Given the description of an element on the screen output the (x, y) to click on. 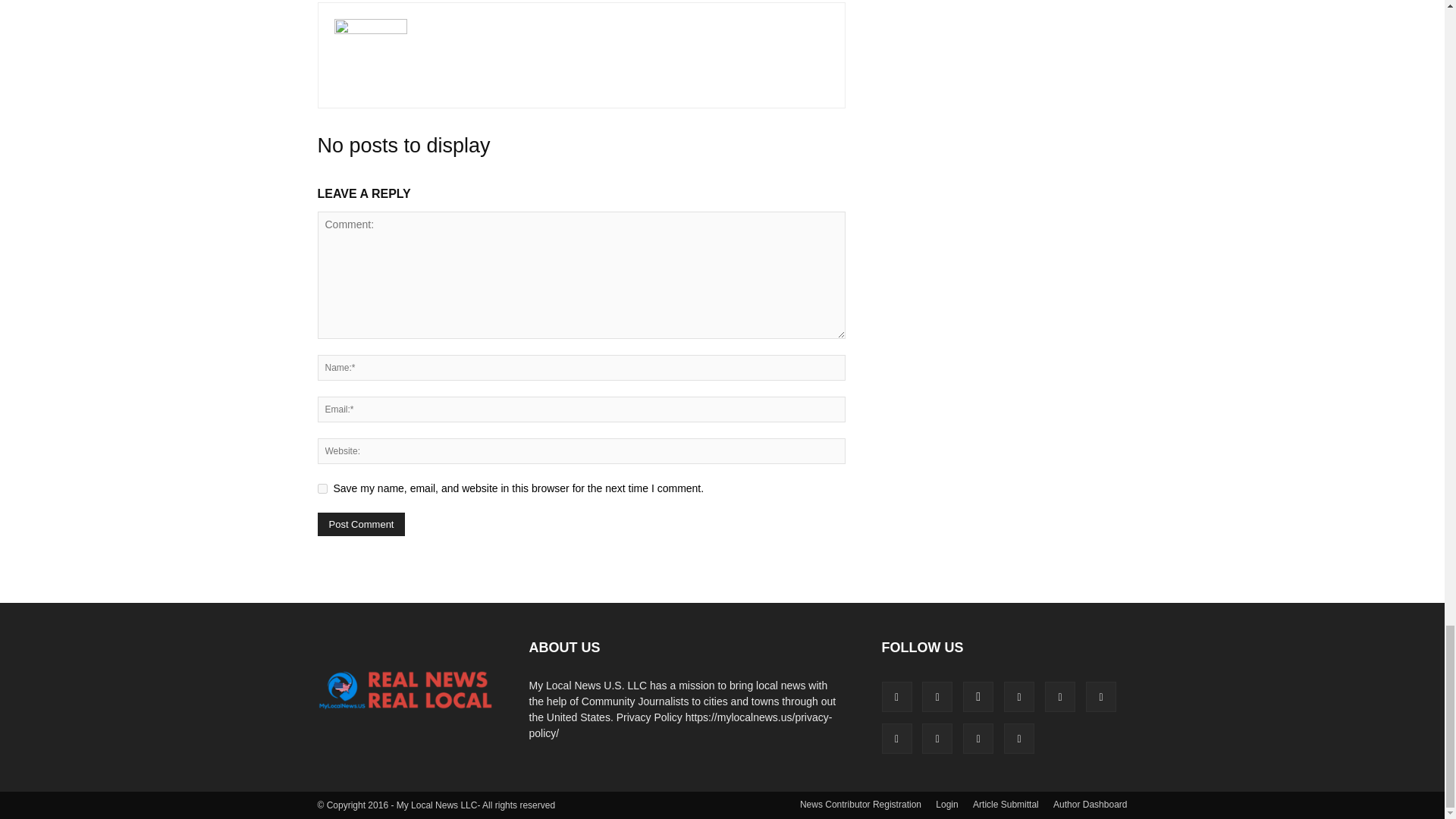
Post Comment (360, 524)
yes (321, 488)
